Given the description of an element on the screen output the (x, y) to click on. 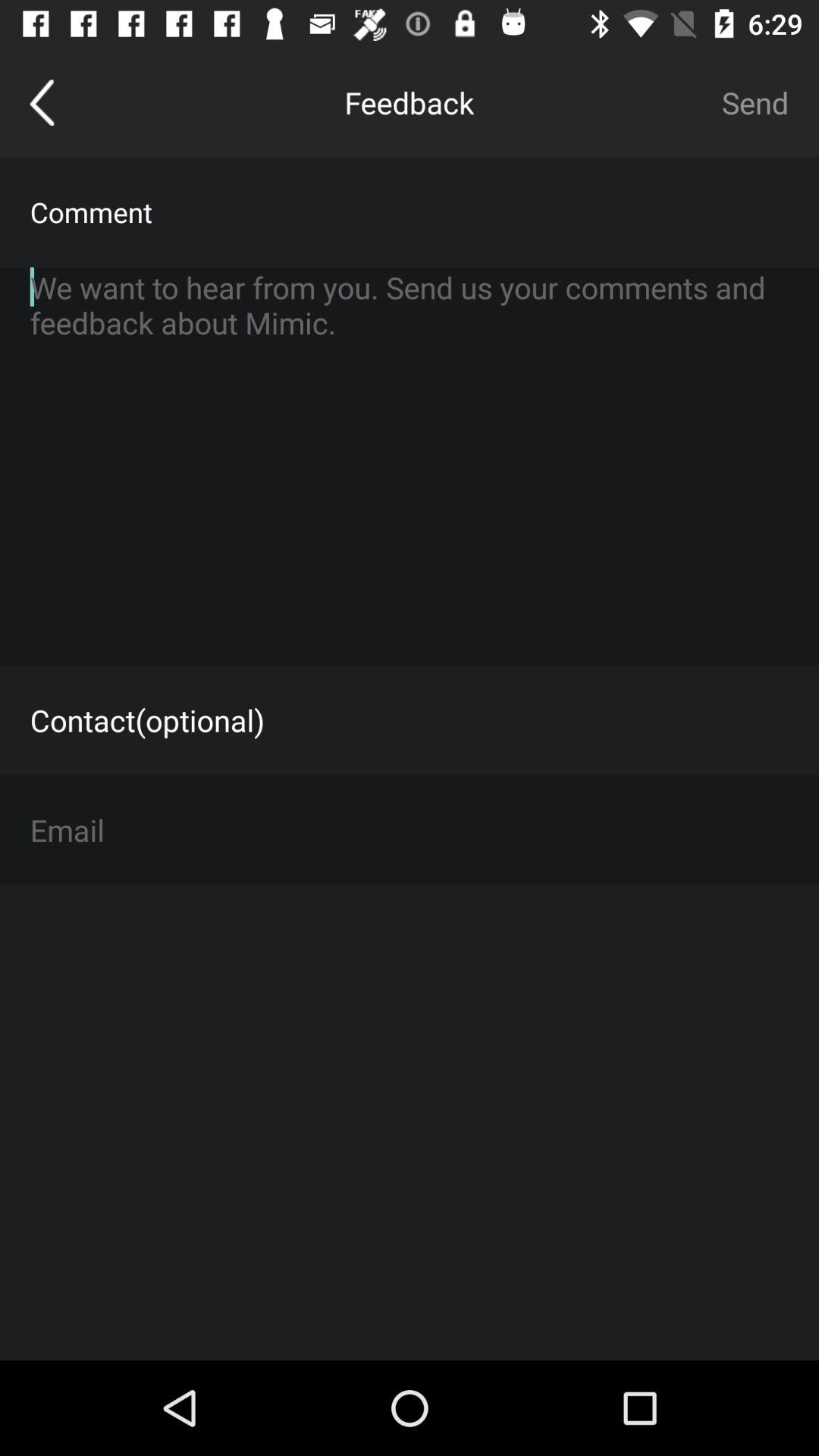
enter contact email (409, 829)
